Given the description of an element on the screen output the (x, y) to click on. 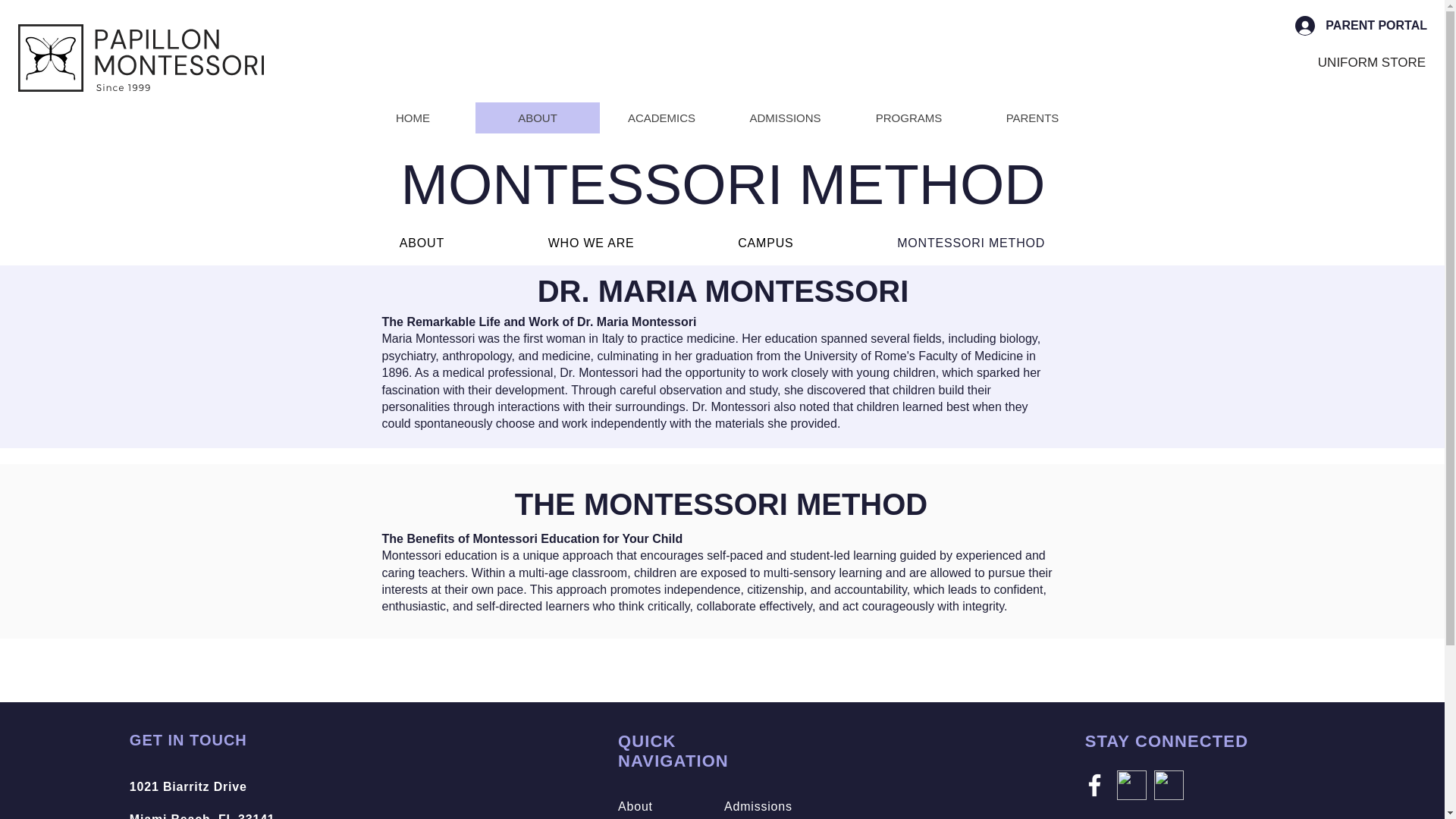
MONTESSORI METHOD (971, 243)
PARENTS (1032, 117)
UNIFORM STORE (1371, 62)
PARENT PORTAL (1361, 25)
PROGRAMS (907, 117)
HOME (412, 117)
WHO WE ARE (590, 243)
CAMPUS (765, 243)
ADMISSIONS (202, 799)
